Given the description of an element on the screen output the (x, y) to click on. 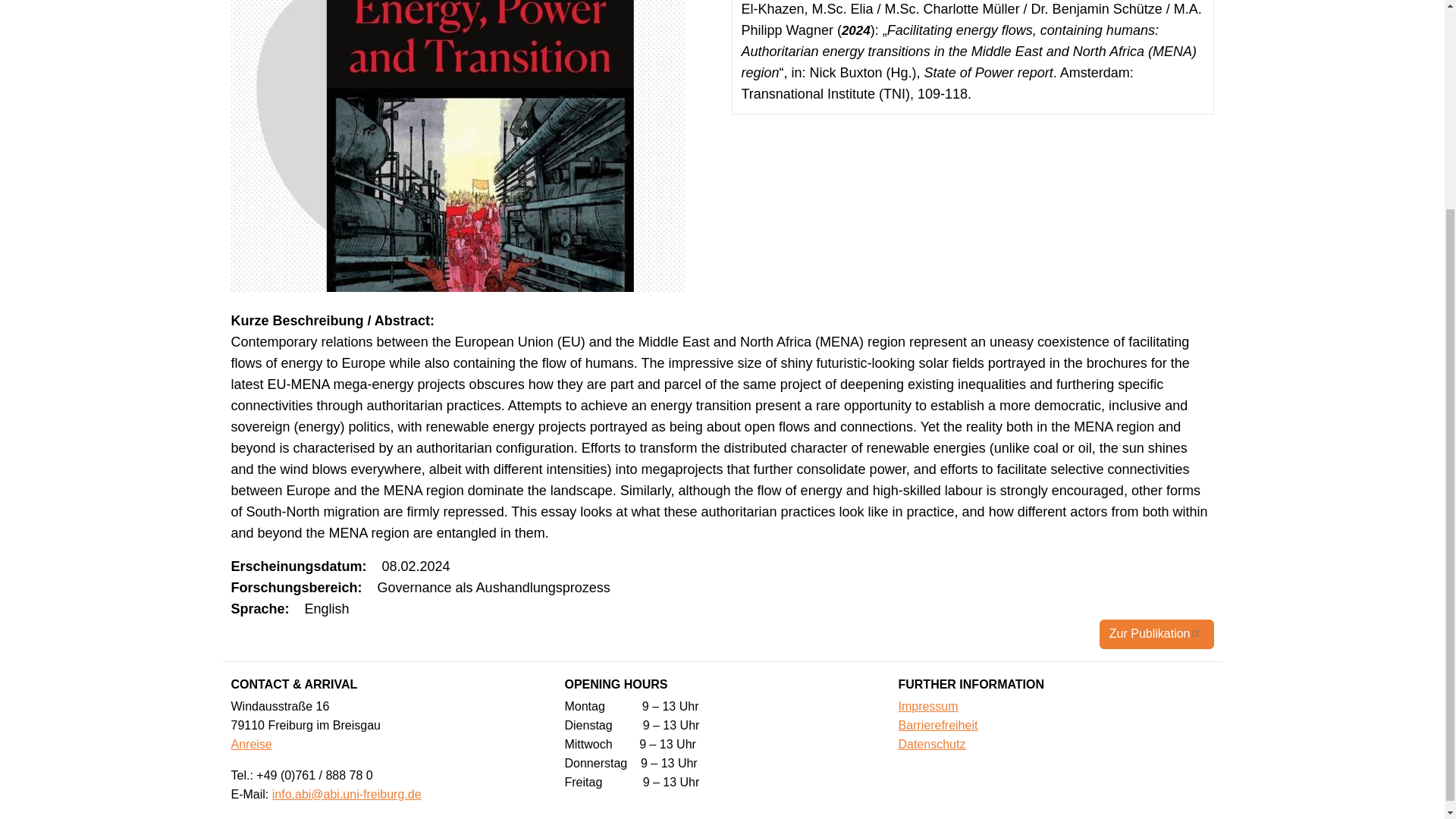
Kontakt (250, 744)
